Given the description of an element on the screen output the (x, y) to click on. 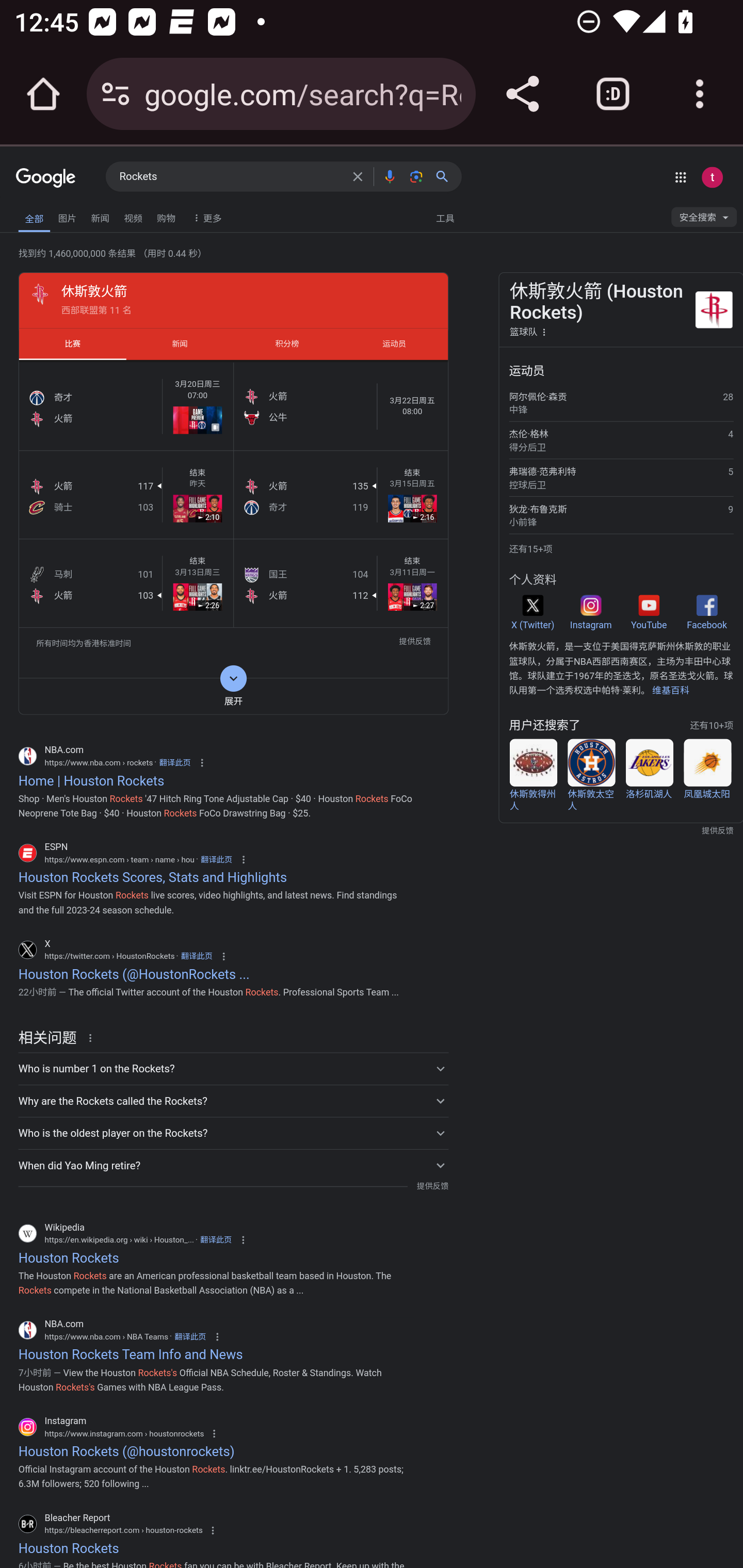
Open the home page (43, 93)
Connection is secure (115, 93)
Share (522, 93)
Switch or close tabs (612, 93)
Customize and control Google Chrome (699, 93)
清除 (357, 176)
按语音搜索 (389, 176)
按图搜索 (415, 176)
搜索 (446, 176)
Google 应用 (680, 176)
Google 账号： test appium (testappium002@gmail.com) (712, 176)
Google (45, 178)
Rockets (229, 177)
无障碍功能反馈 (42, 212)
图片 (67, 216)
新闻 (99, 216)
视频 (133, 216)
购物 (166, 216)
更多 (205, 216)
安全搜索 (703, 219)
工具 (444, 216)
休斯敦火箭 西部联盟第 11 名 休斯敦火箭 西部联盟第 11 名 (232, 299)
比赛 (71, 343)
新闻 (179, 343)
积分榜 (286, 343)
运动员 (394, 343)
提供反馈 (414, 642)
展开 (232, 696)
翻译此页 (174, 761)
翻译此页 (215, 858)
翻译此页 (196, 956)
关于这条结果的详细信息 (93, 1037)
Who is number 1 on the Rockets? (232, 1068)
Why are the Rockets called the Rockets? (232, 1099)
Who is the oldest player on the Rockets? (232, 1132)
When did Yao Ming retire? (232, 1164)
提供反馈 (432, 1185)
翻译此页 (215, 1240)
翻译此页 (189, 1336)
